Given the description of an element on the screen output the (x, y) to click on. 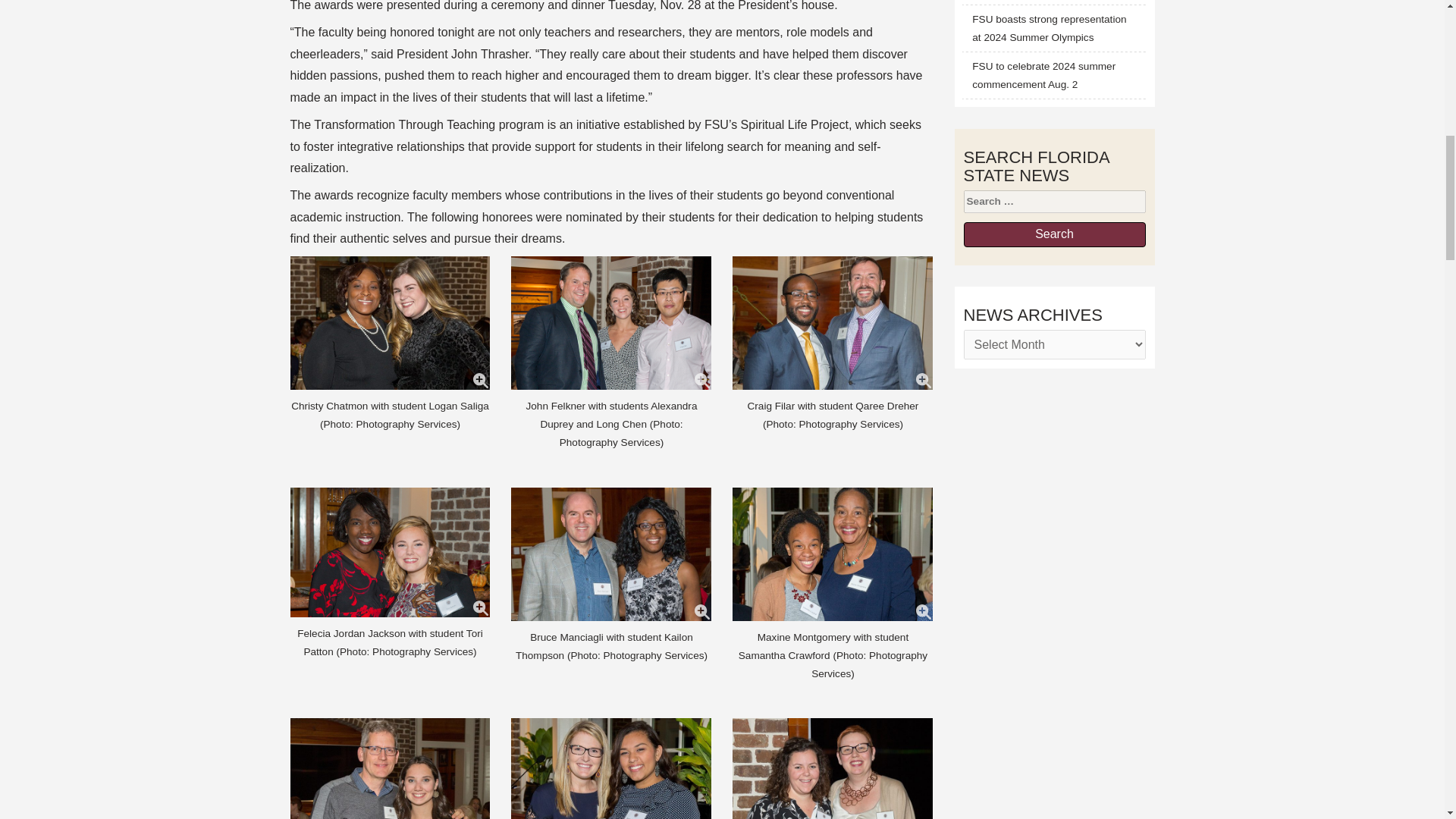
Search (1053, 233)
